Given the description of an element on the screen output the (x, y) to click on. 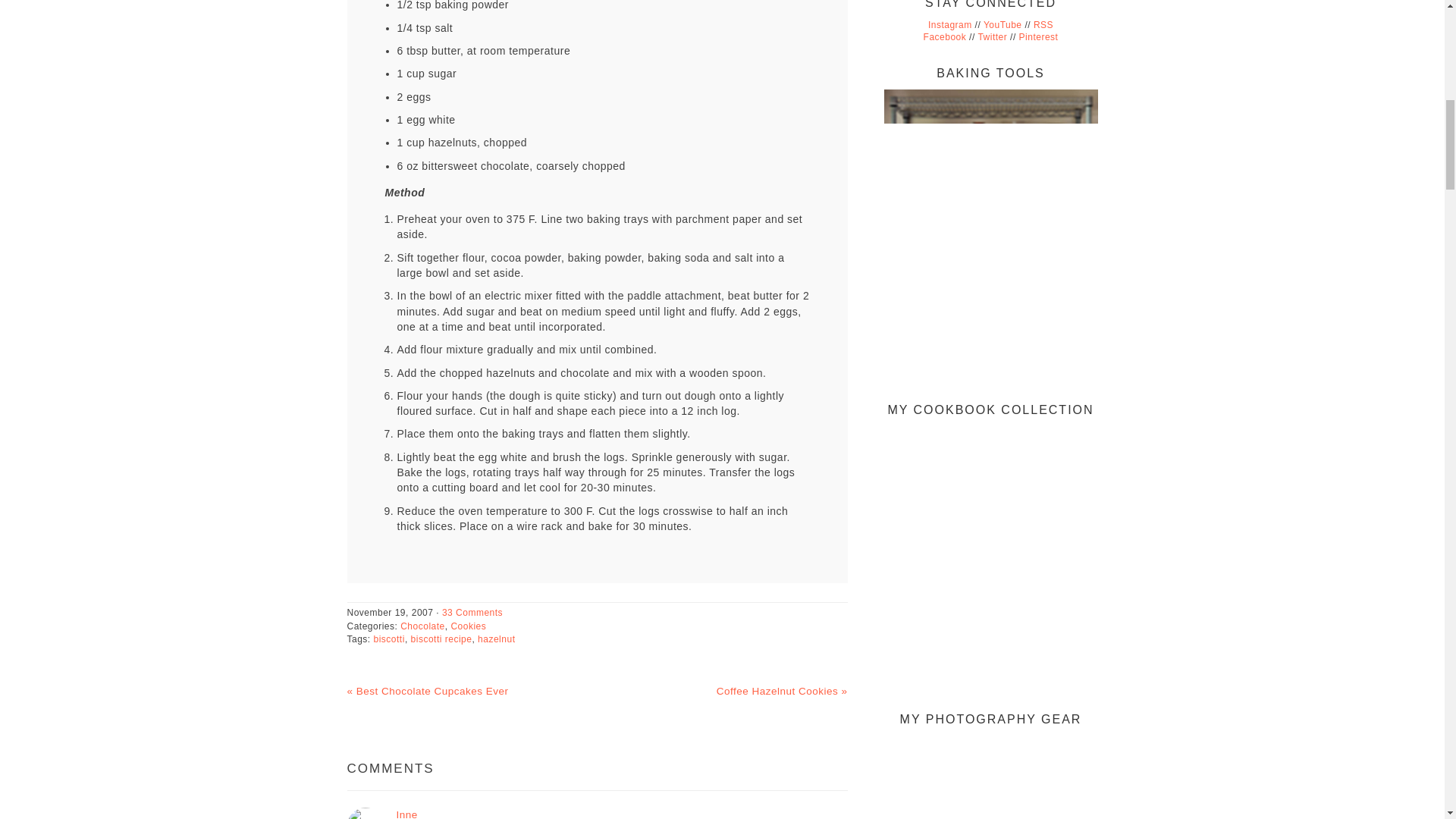
biscotti recipe (440, 638)
Cookies (467, 625)
Chocolate (422, 625)
Inne (406, 814)
33 Comments (472, 612)
biscotti (389, 638)
hazelnut (496, 638)
